Given the description of an element on the screen output the (x, y) to click on. 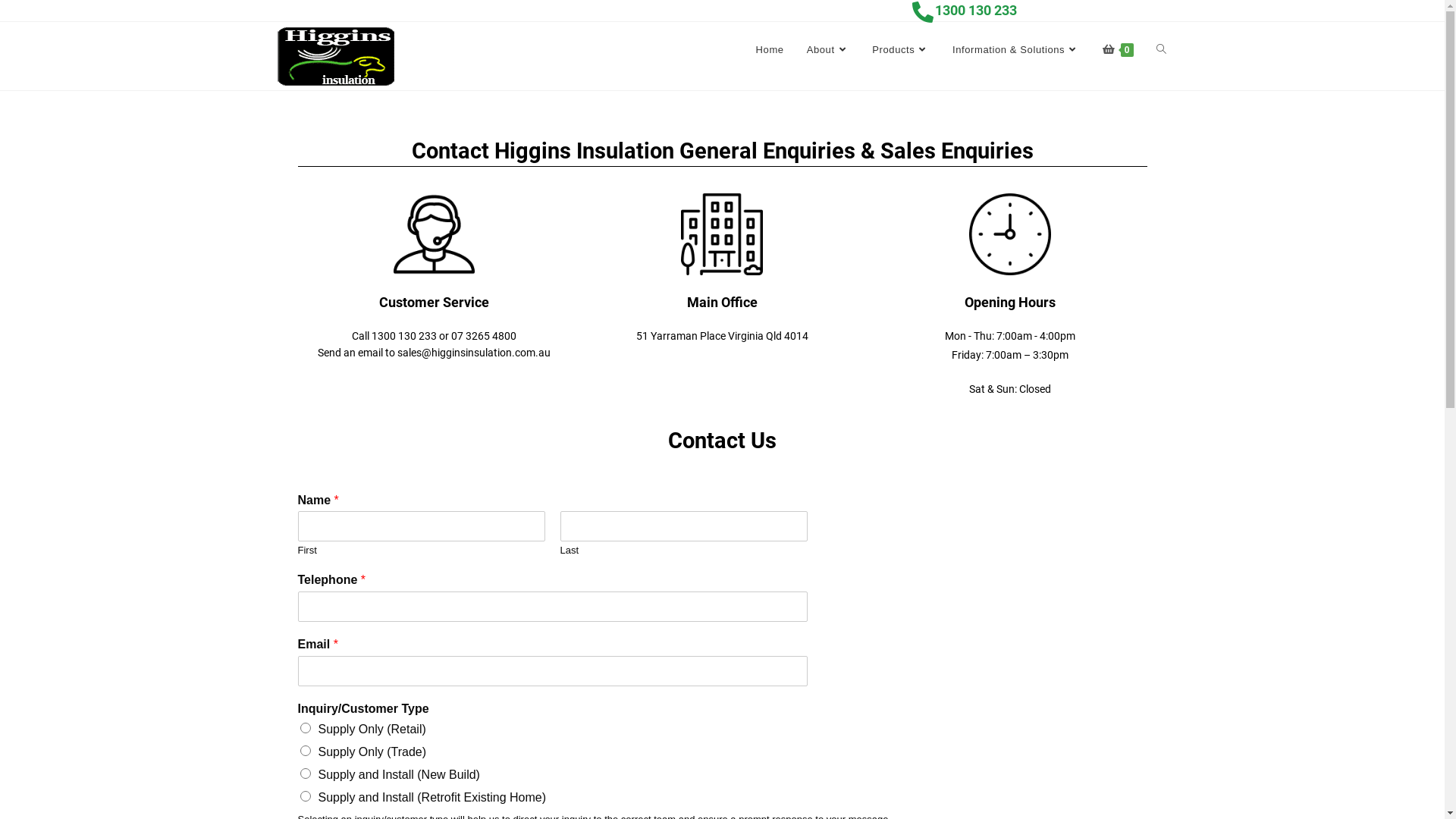
Information & Solutions Element type: text (1016, 49)
0 Element type: text (1118, 49)
About Element type: text (828, 49)
Home Element type: text (769, 49)
Products Element type: text (900, 49)
